Given the description of an element on the screen output the (x, y) to click on. 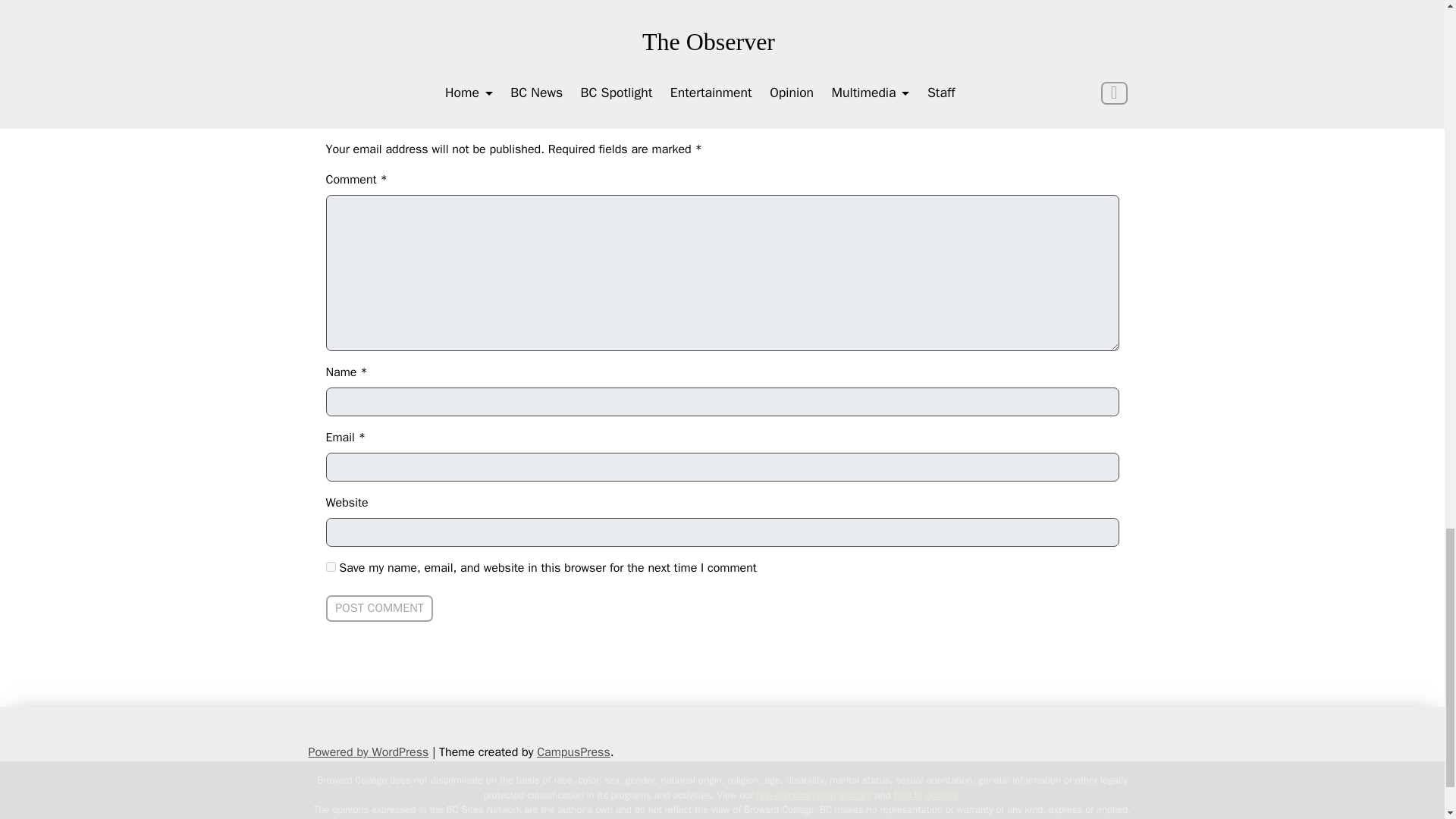
CampusPress (573, 752)
Title IX policies (925, 794)
KUWTK FINAL SEASON AIRING ON MARCH 18 (985, 8)
yes (331, 566)
Post Comment (379, 608)
non-discrimination policies (814, 794)
BRAIN INJURY AWARENESS DAY ON CAPITOL HILL (471, 8)
Powered by WordPress (367, 752)
Post Comment (379, 608)
